Given the description of an element on the screen output the (x, y) to click on. 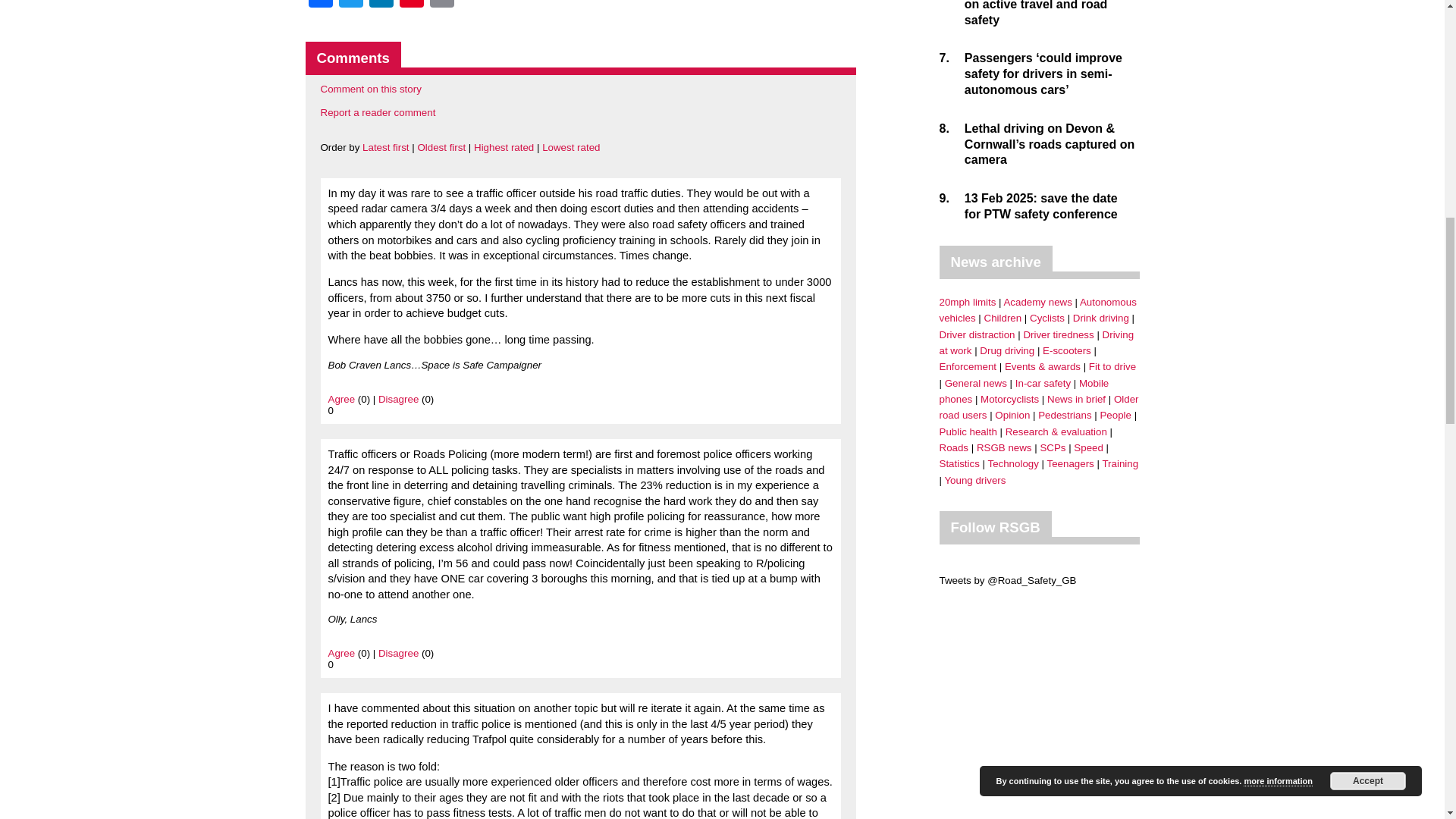
Pinterest (411, 5)
Twitter (349, 5)
Email (441, 5)
Facebook (319, 5)
LinkedIn (380, 5)
